Given the description of an element on the screen output the (x, y) to click on. 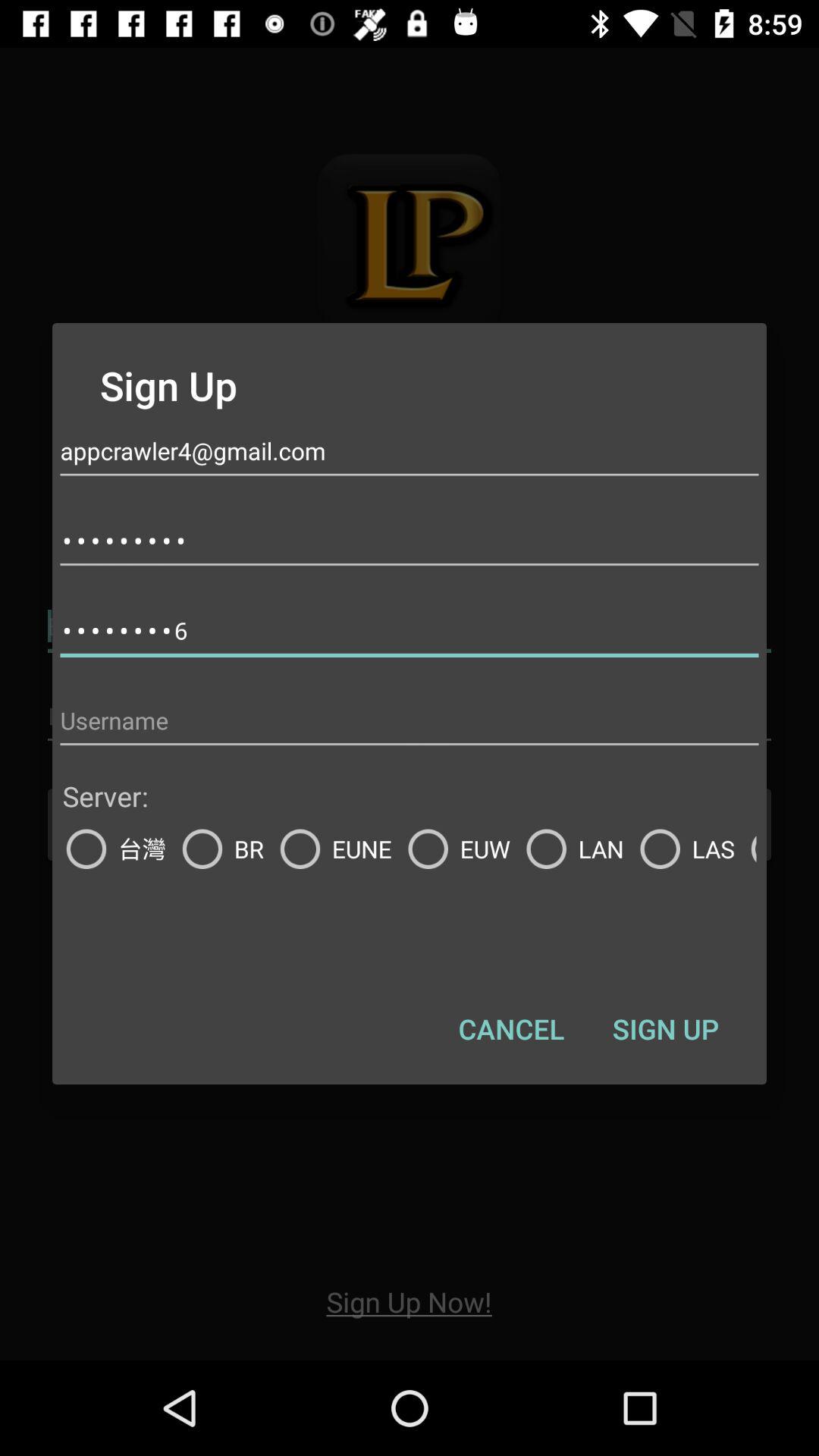
enter name (409, 720)
